Given the description of an element on the screen output the (x, y) to click on. 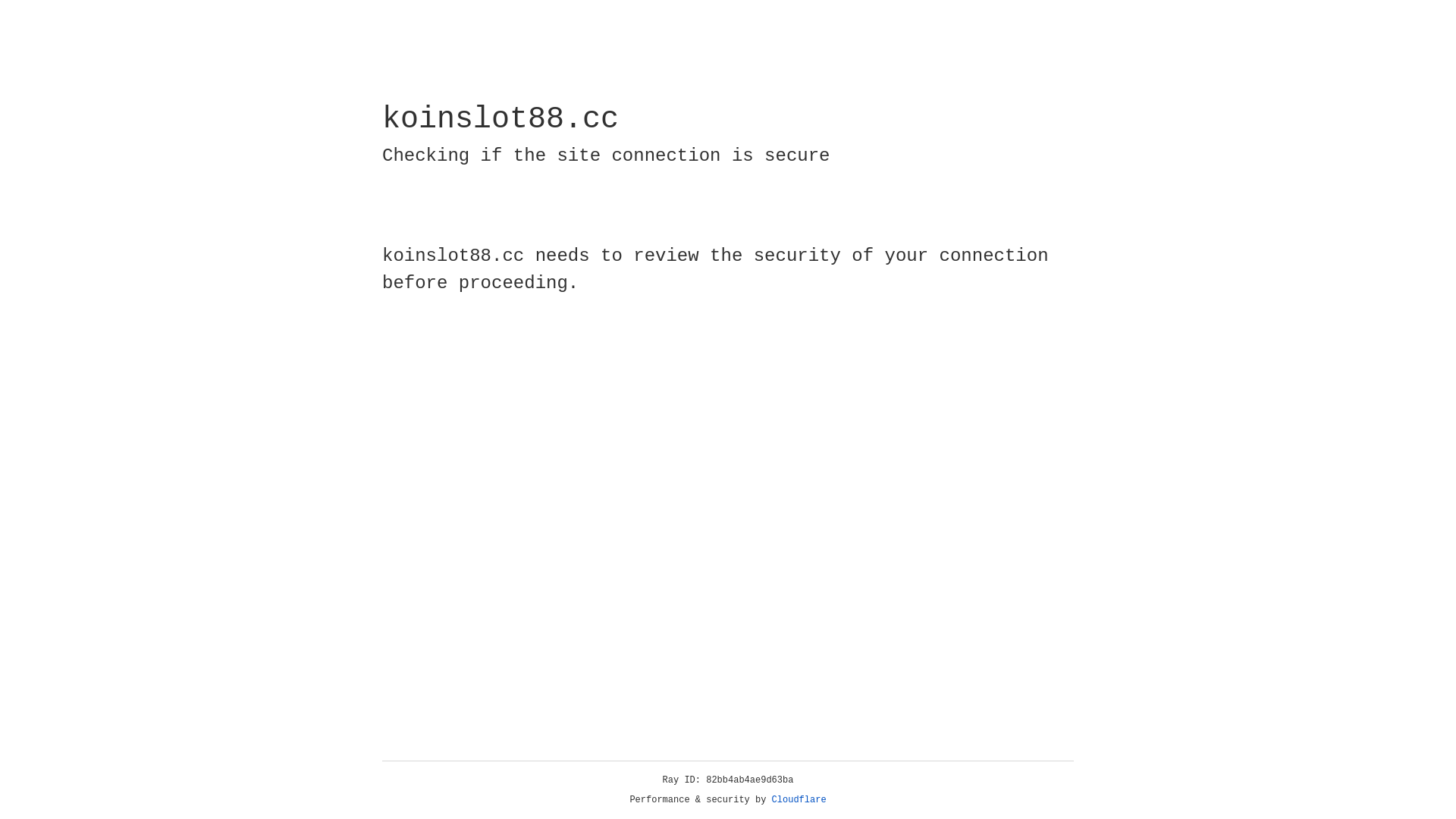
Cloudflare Element type: text (798, 799)
